Given the description of an element on the screen output the (x, y) to click on. 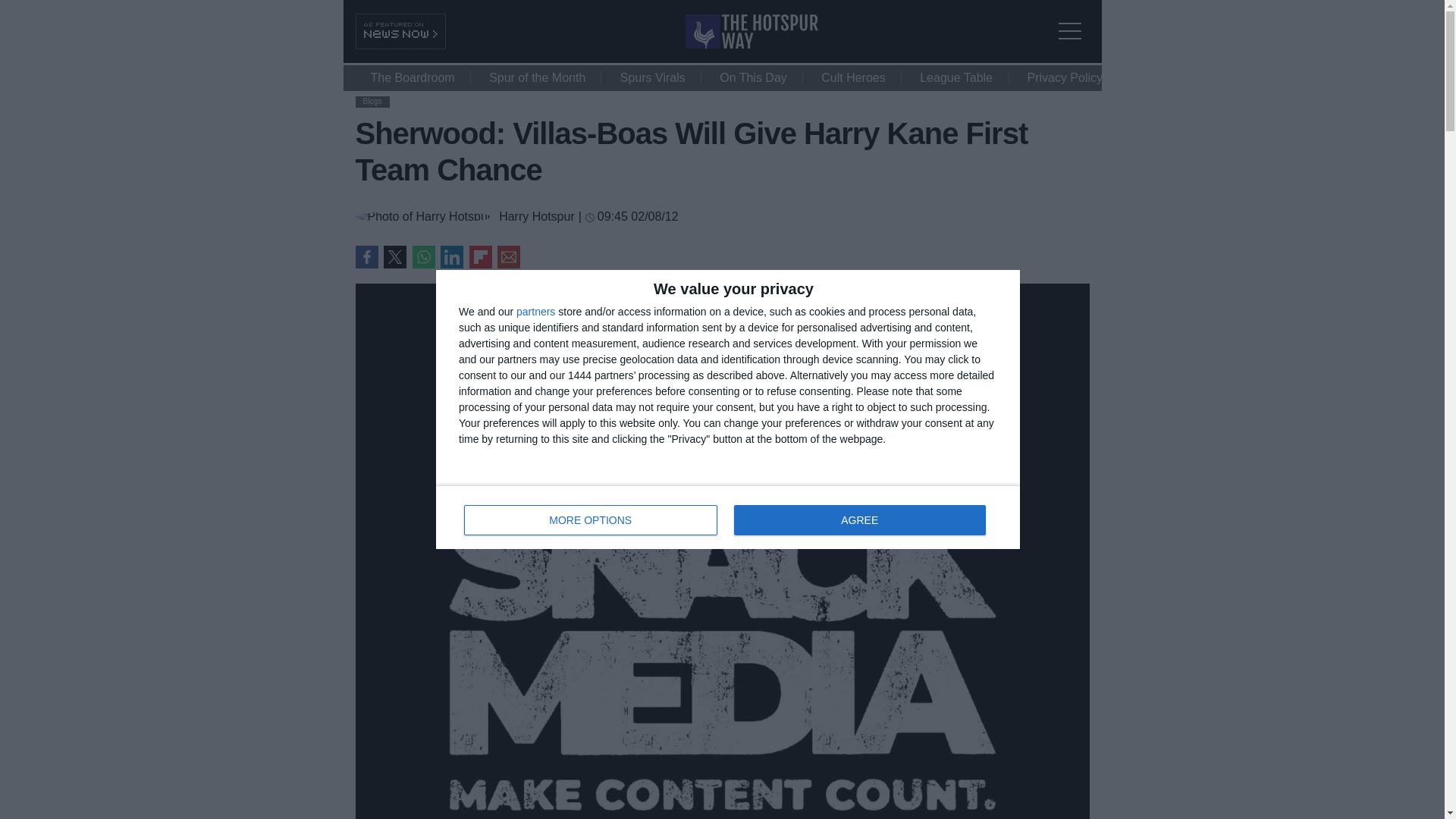
Spurs Virals (652, 78)
share on Flipboard (480, 256)
AGREE (859, 520)
share on Facebook (366, 256)
partners (535, 311)
Blogs (371, 101)
MORE OPTIONS (590, 520)
The Boardroom (411, 78)
Menu (1074, 21)
Harry Hotspur (537, 216)
Back to the homepage (727, 516)
share on LinkedIn (751, 43)
Spur of the Month (452, 256)
share on Twitter (536, 78)
